Given the description of an element on the screen output the (x, y) to click on. 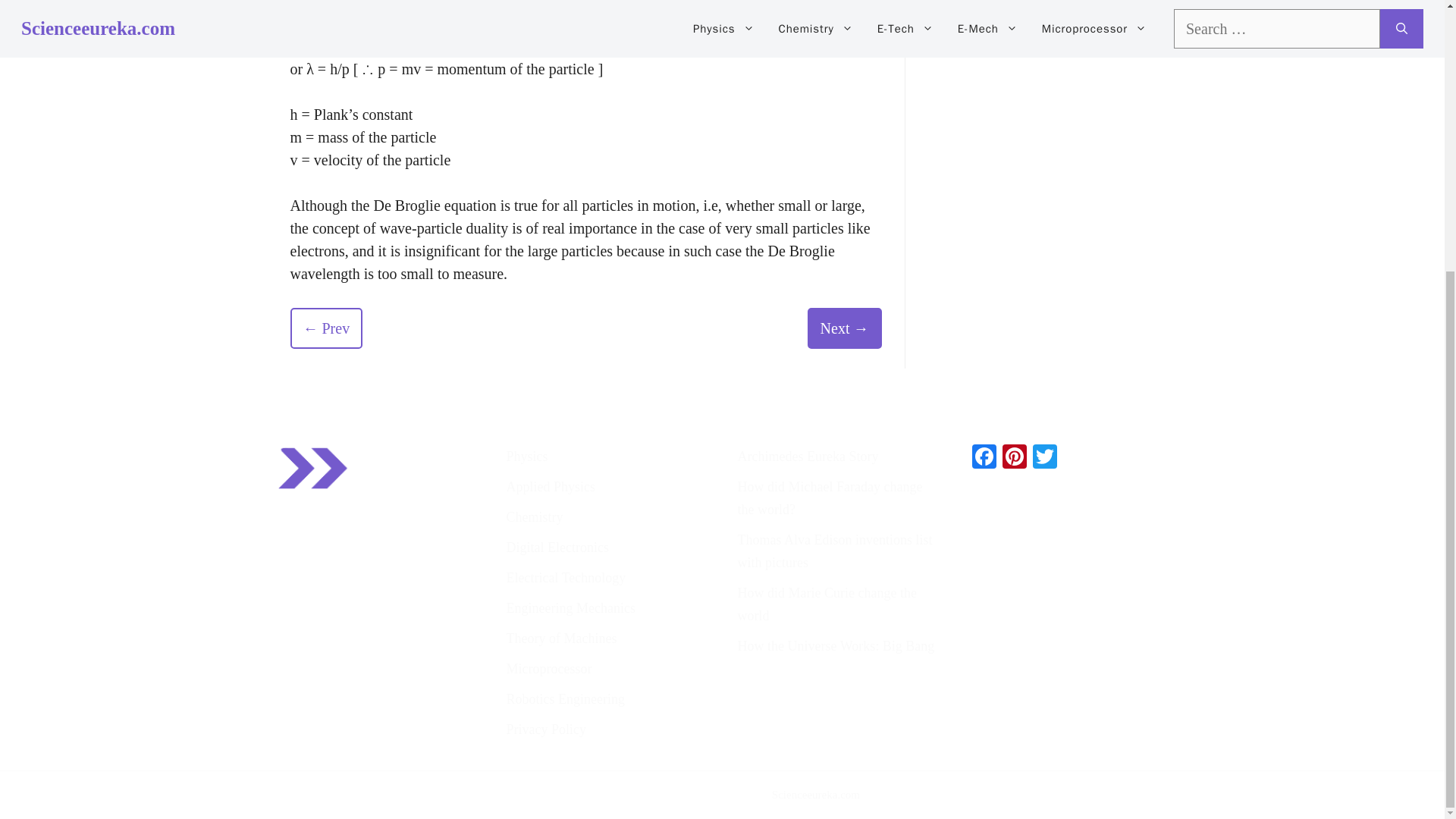
Facebook (983, 458)
Twitter (1044, 458)
Pinterest (1013, 458)
